Given the description of an element on the screen output the (x, y) to click on. 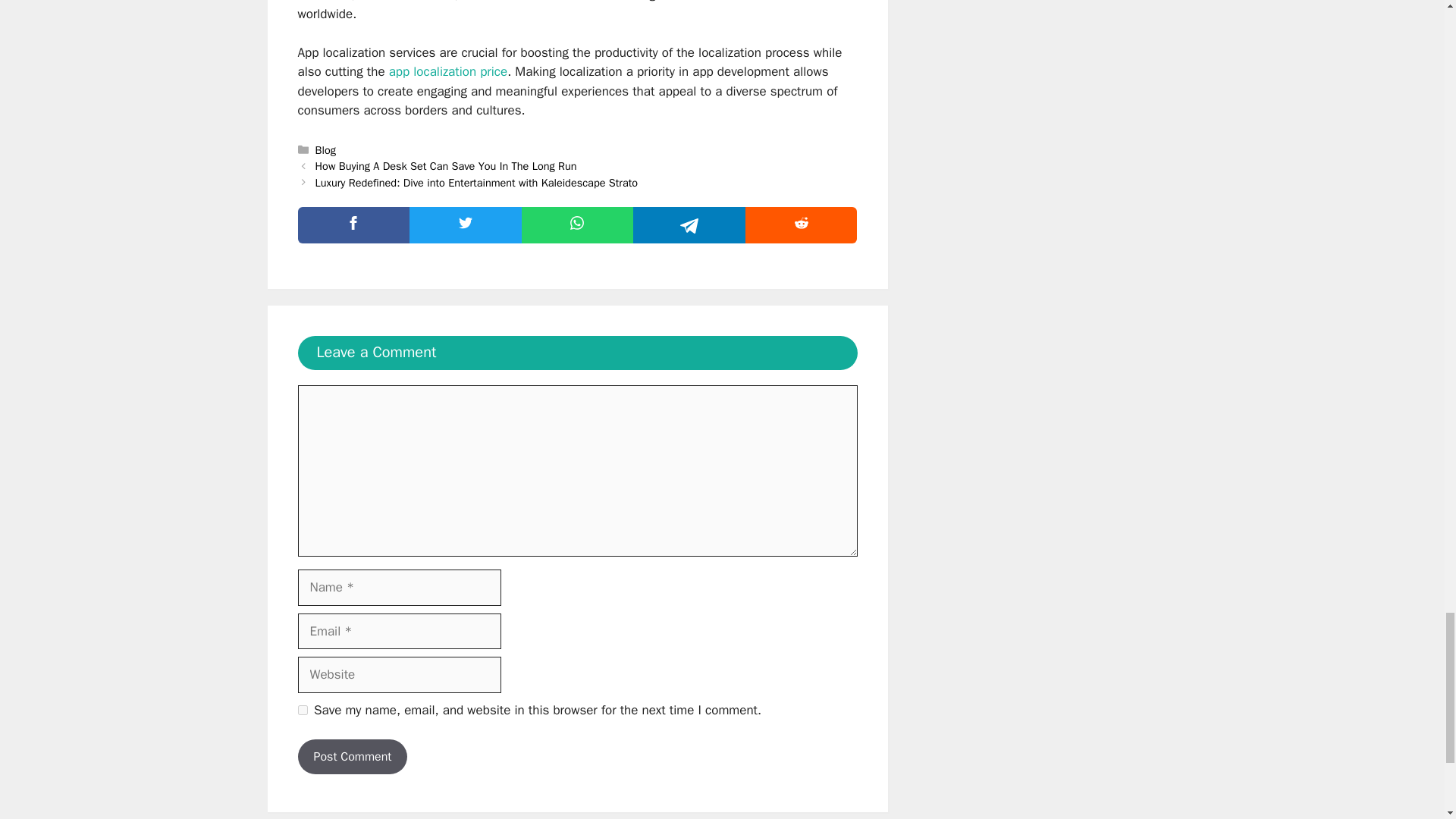
yes (302, 709)
Post Comment (352, 756)
